Given the description of an element on the screen output the (x, y) to click on. 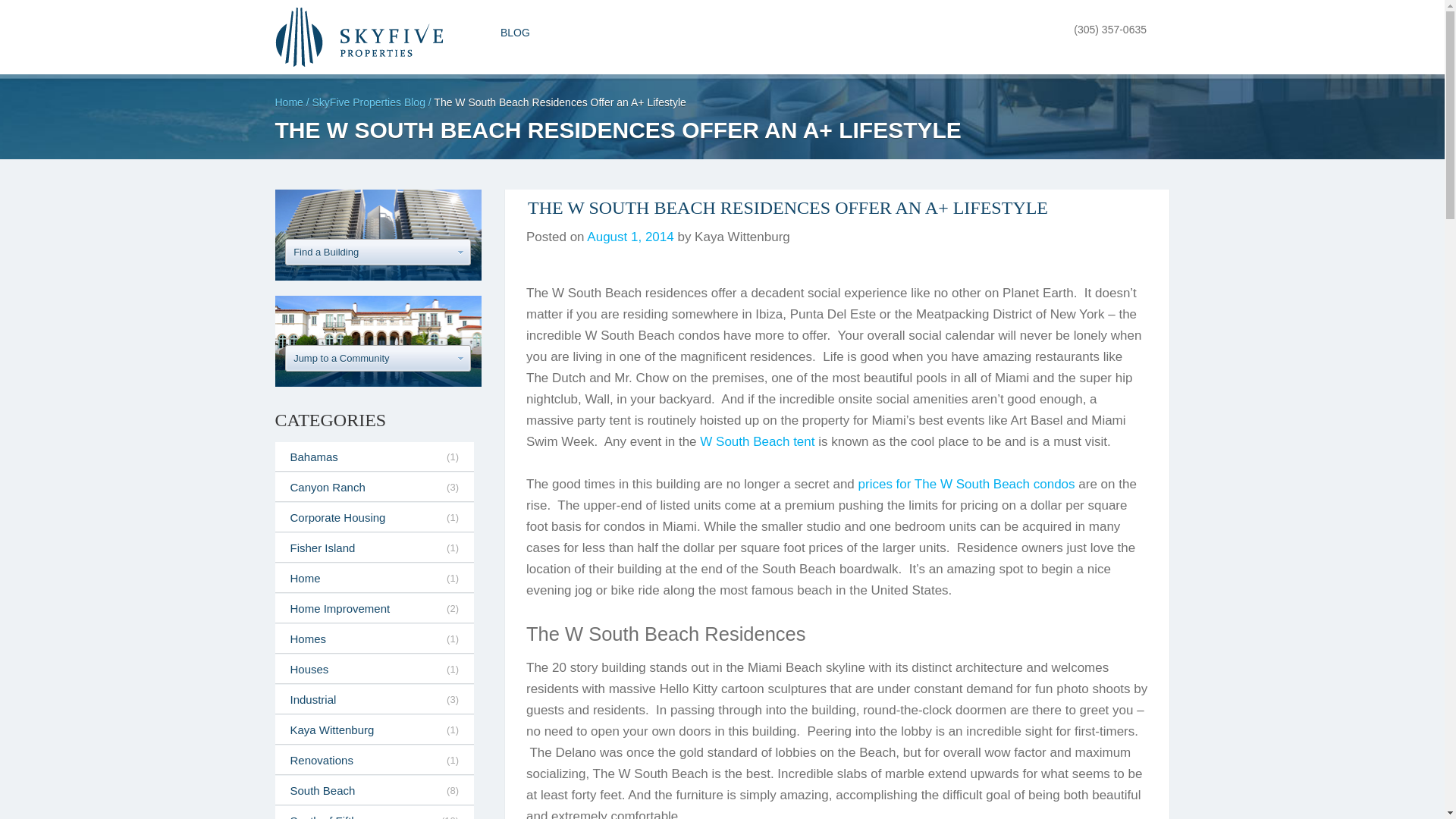
Jump to a Community (377, 357)
Find a Building (377, 252)
Home (288, 102)
prices for The W South Beach condos (967, 483)
Blog (369, 102)
SkyFive Properties Blog (369, 102)
Home (288, 102)
W South Beach tent (756, 441)
BLOG (515, 32)
